Given the description of an element on the screen output the (x, y) to click on. 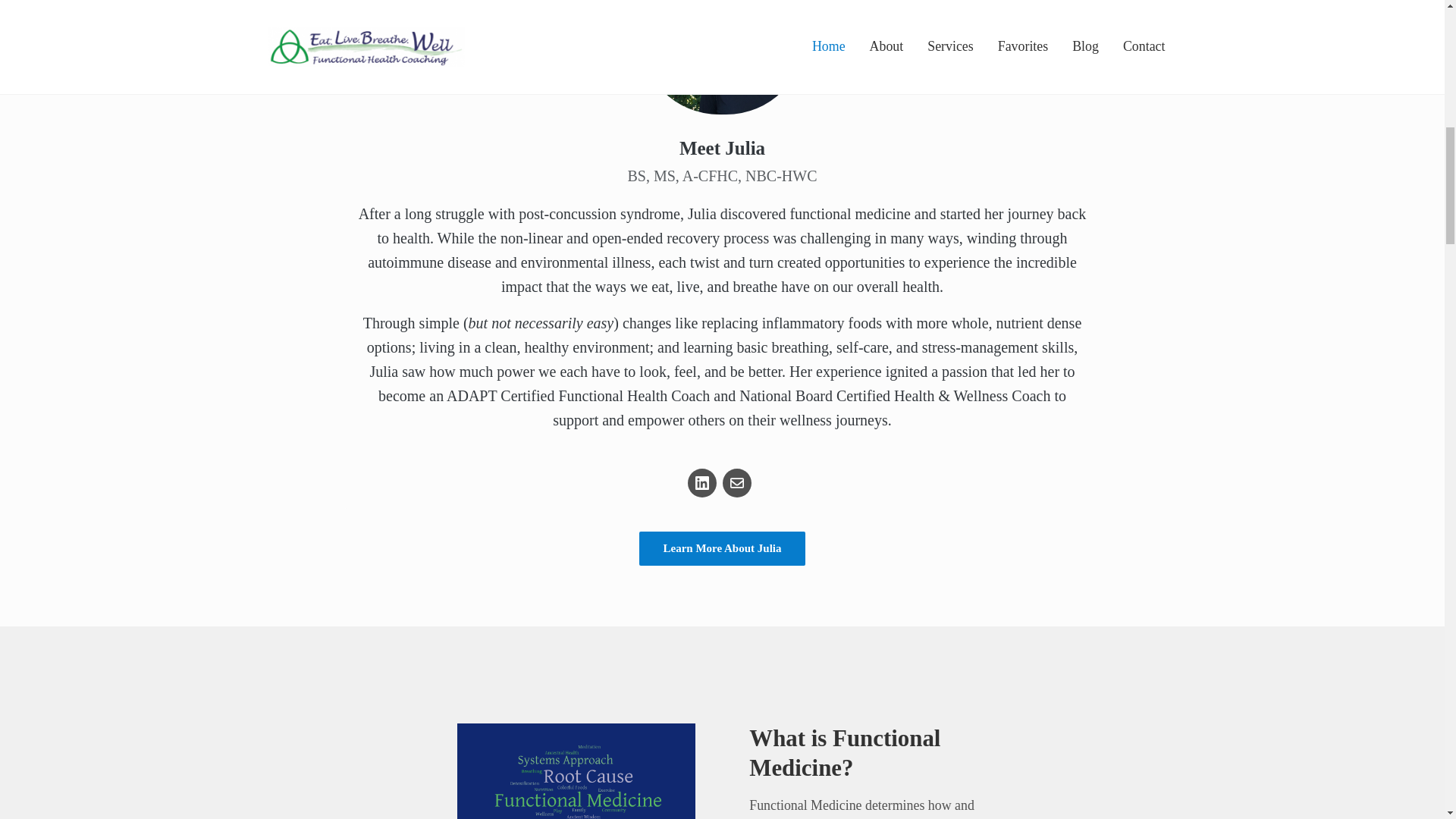
Learn More About Julia (722, 548)
